Given the description of an element on the screen output the (x, y) to click on. 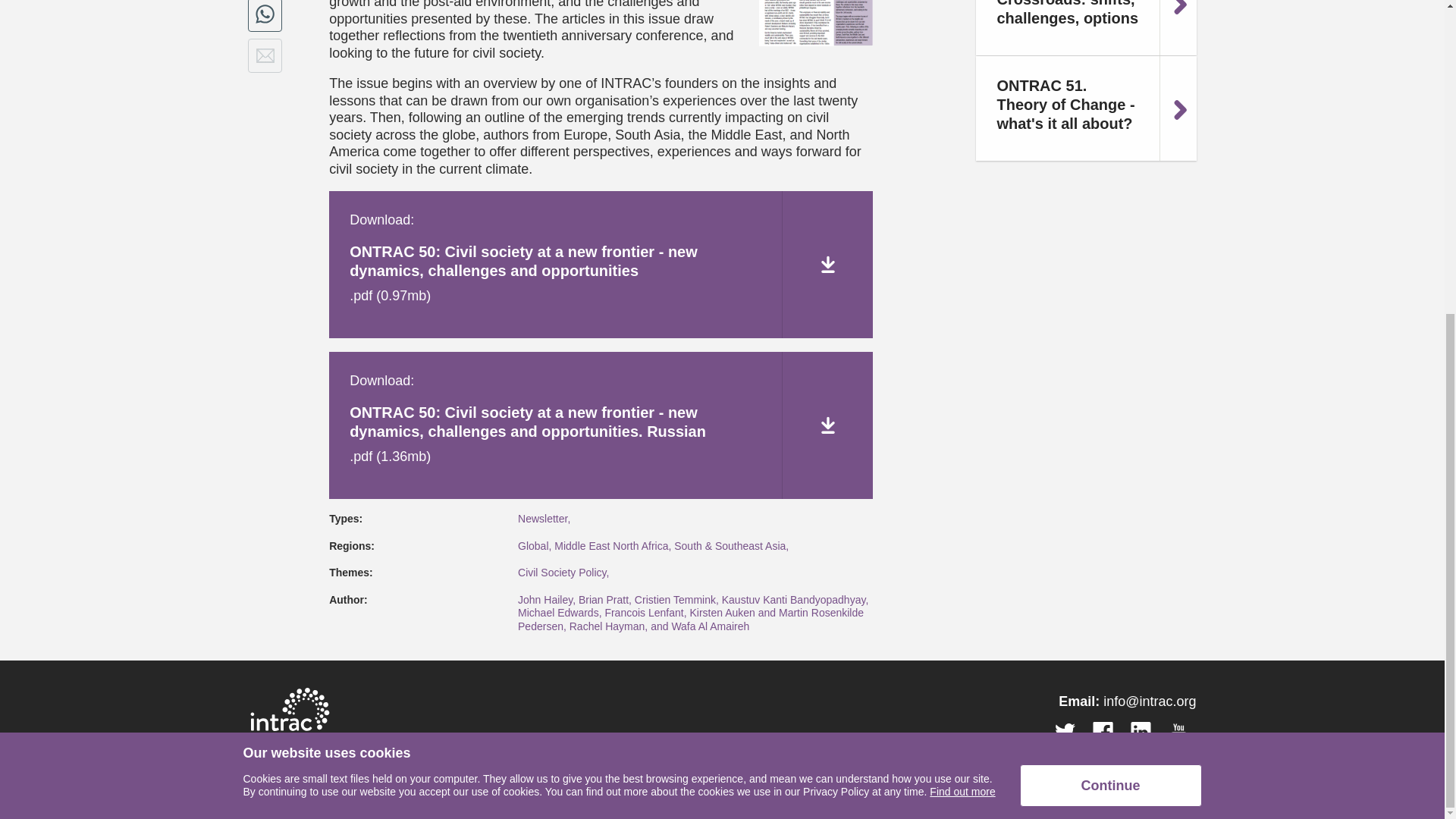
Find out more (962, 288)
Continue (1110, 282)
Share by Email (264, 55)
Find out more (962, 288)
